Given the description of an element on the screen output the (x, y) to click on. 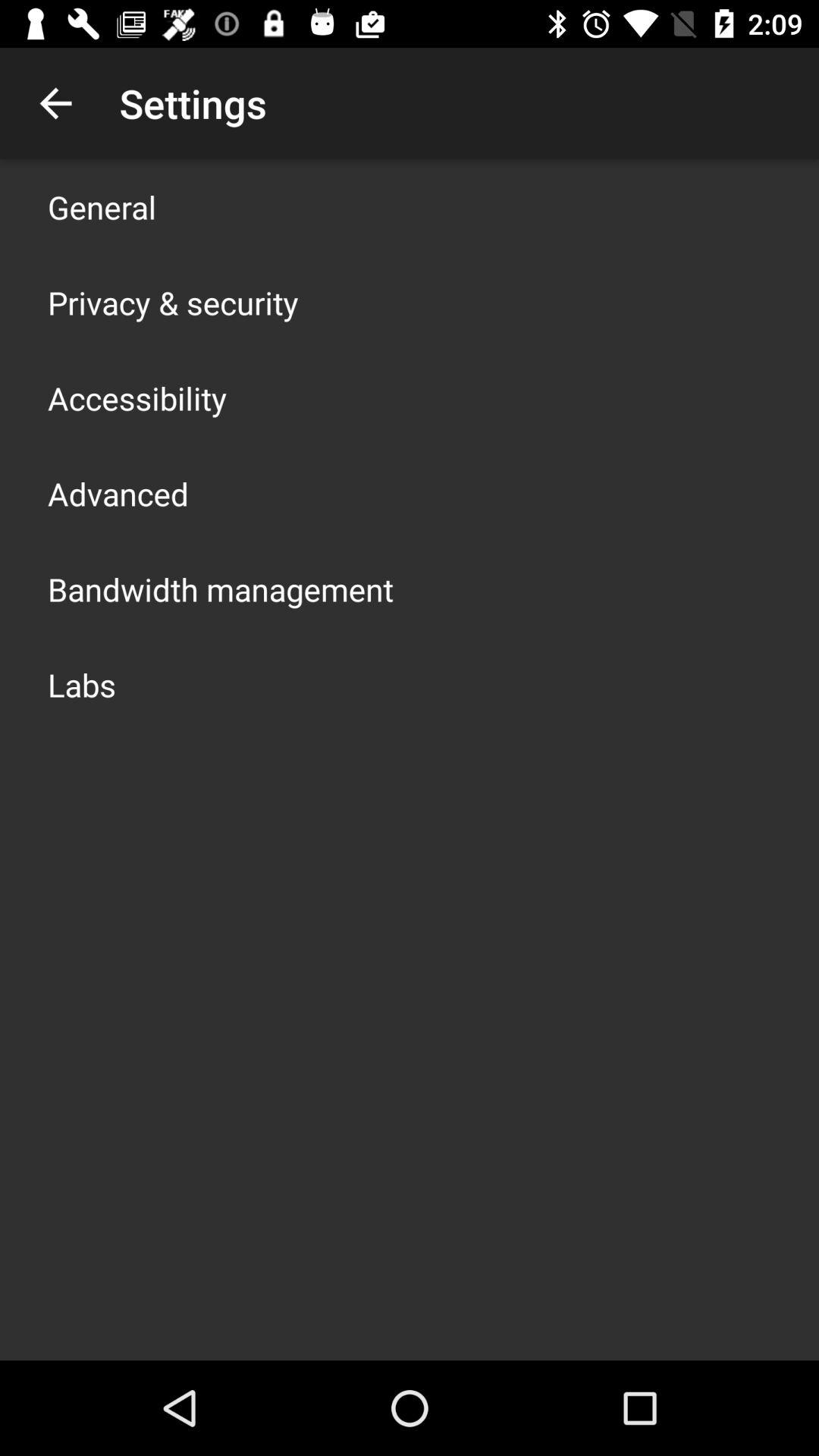
jump until the privacy & security (172, 302)
